Given the description of an element on the screen output the (x, y) to click on. 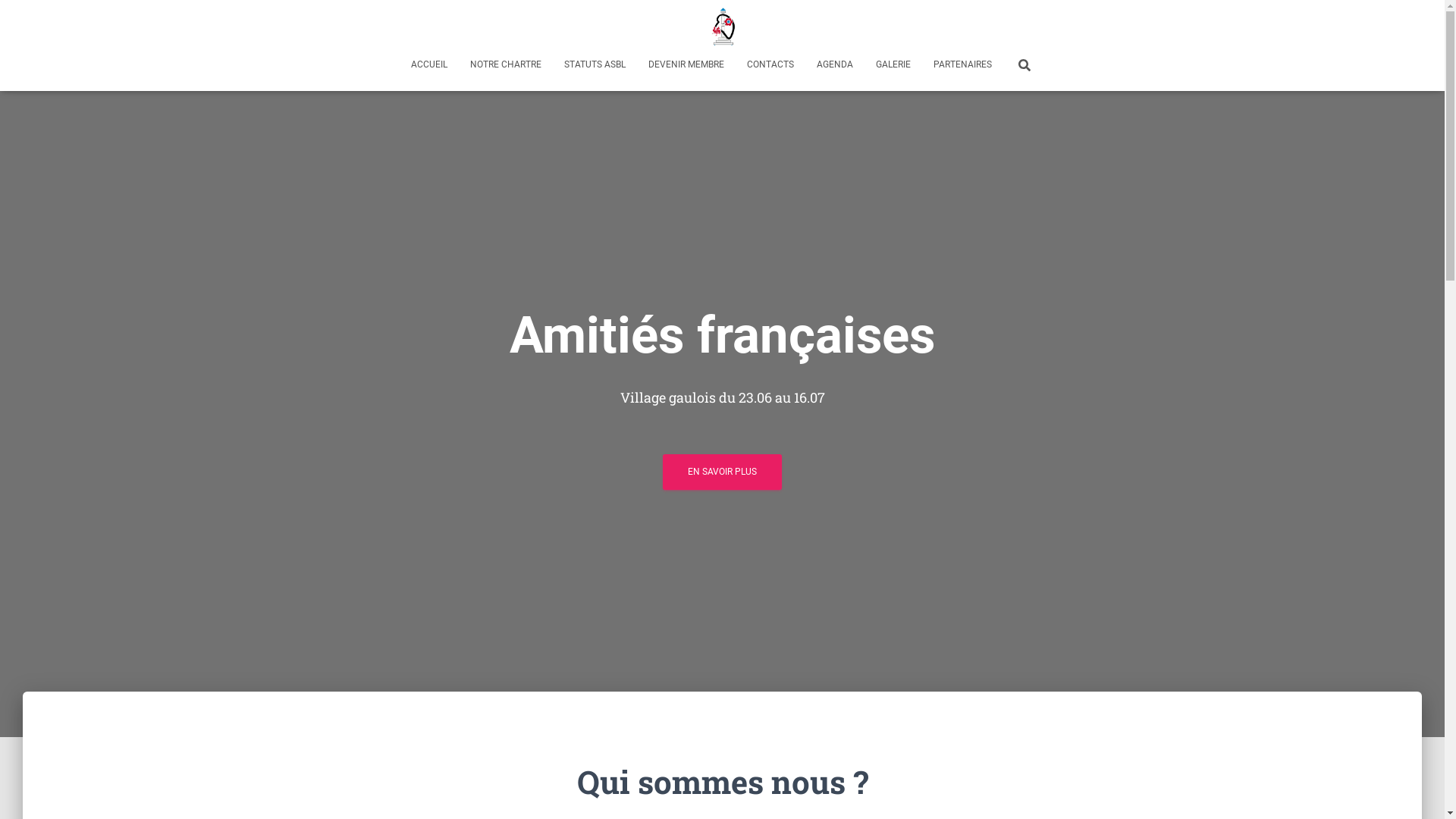
Rechercher Element type: text (17, 16)
STATUTS ASBL Element type: text (594, 64)
CONTACTS Element type: text (770, 64)
PARTENAIRES Element type: text (962, 64)
ACCUEIL Element type: text (428, 64)
EN SAVOIR PLUS Element type: text (721, 471)
NOTRE CHARTRE Element type: text (505, 64)
DEVENIR MEMBRE Element type: text (686, 64)
AGENDA Element type: text (834, 64)
GALERIE Element type: text (893, 64)
